Given the description of an element on the screen output the (x, y) to click on. 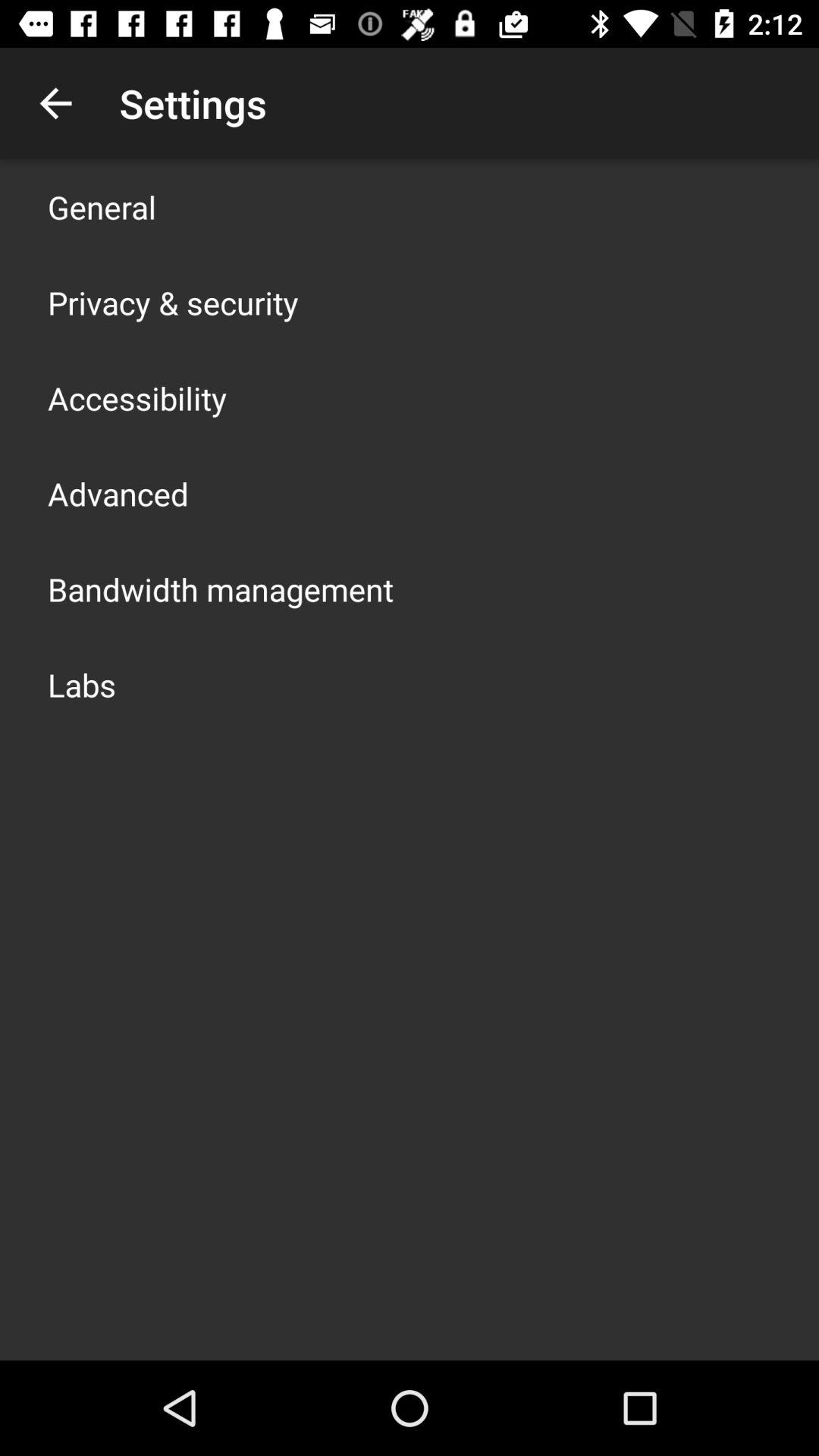
turn on the app above accessibility icon (172, 302)
